Given the description of an element on the screen output the (x, y) to click on. 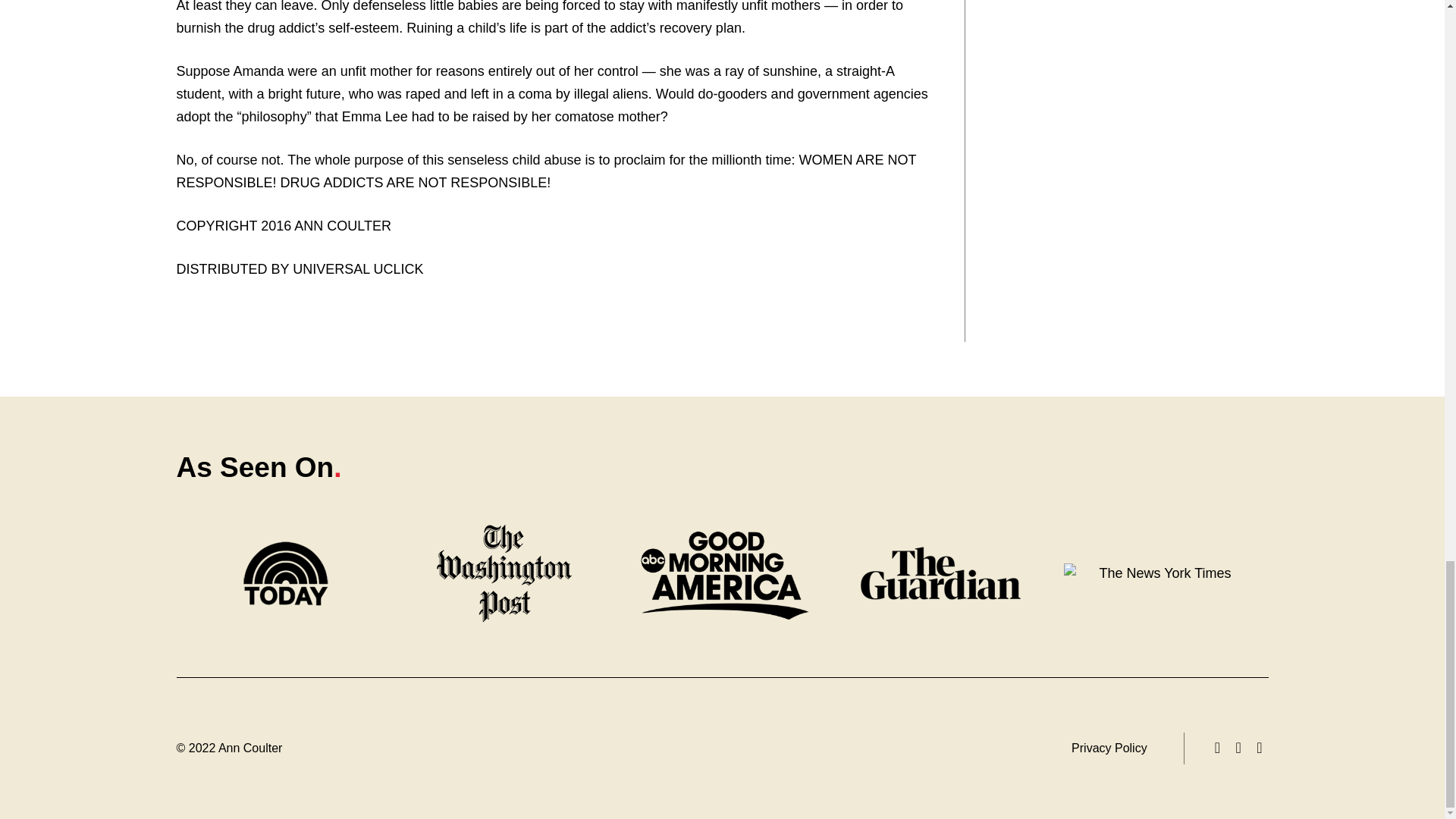
Privacy Policy (1109, 748)
